Given the description of an element on the screen output the (x, y) to click on. 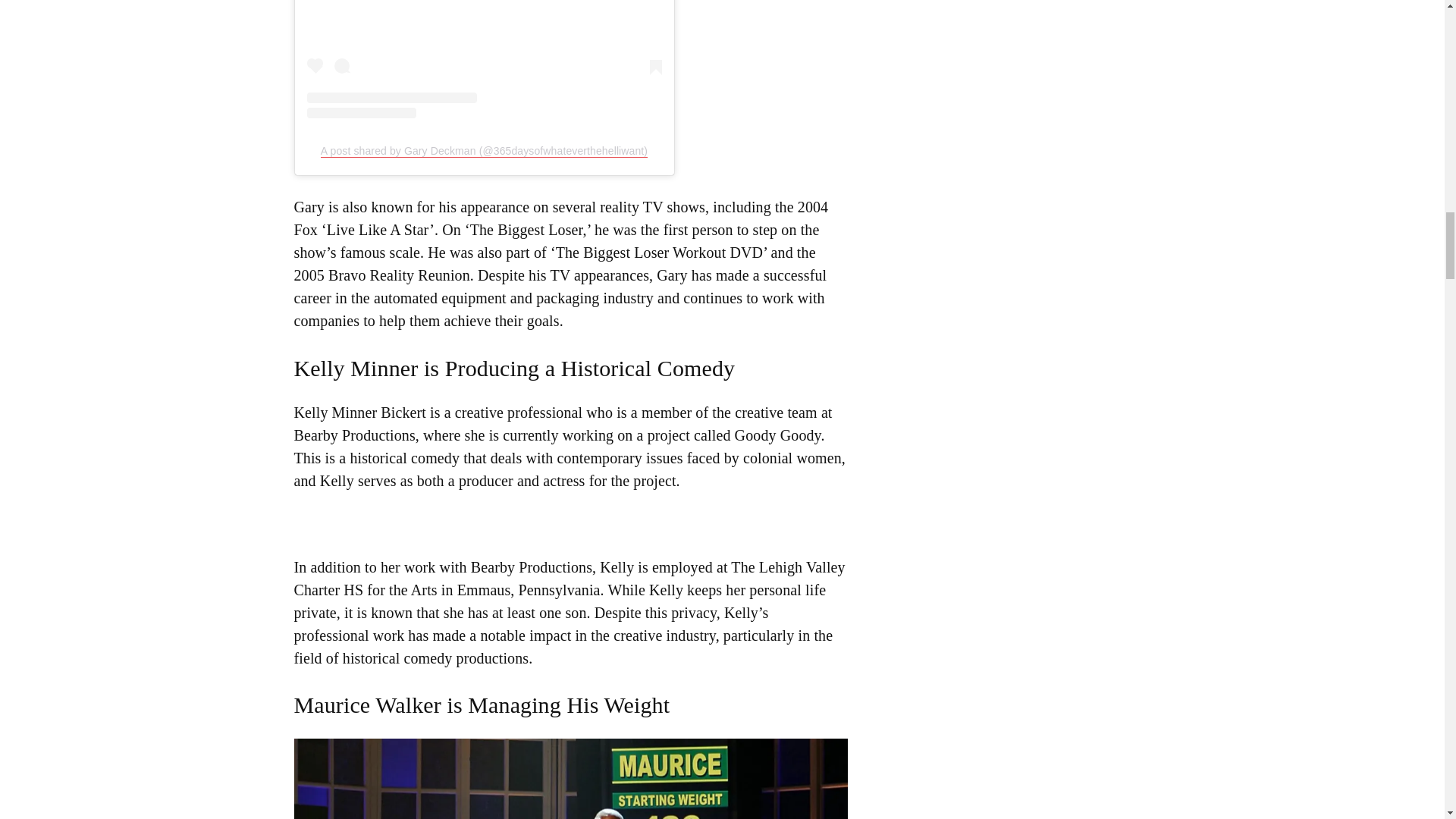
View this post on Instagram (483, 58)
